Given the description of an element on the screen output the (x, y) to click on. 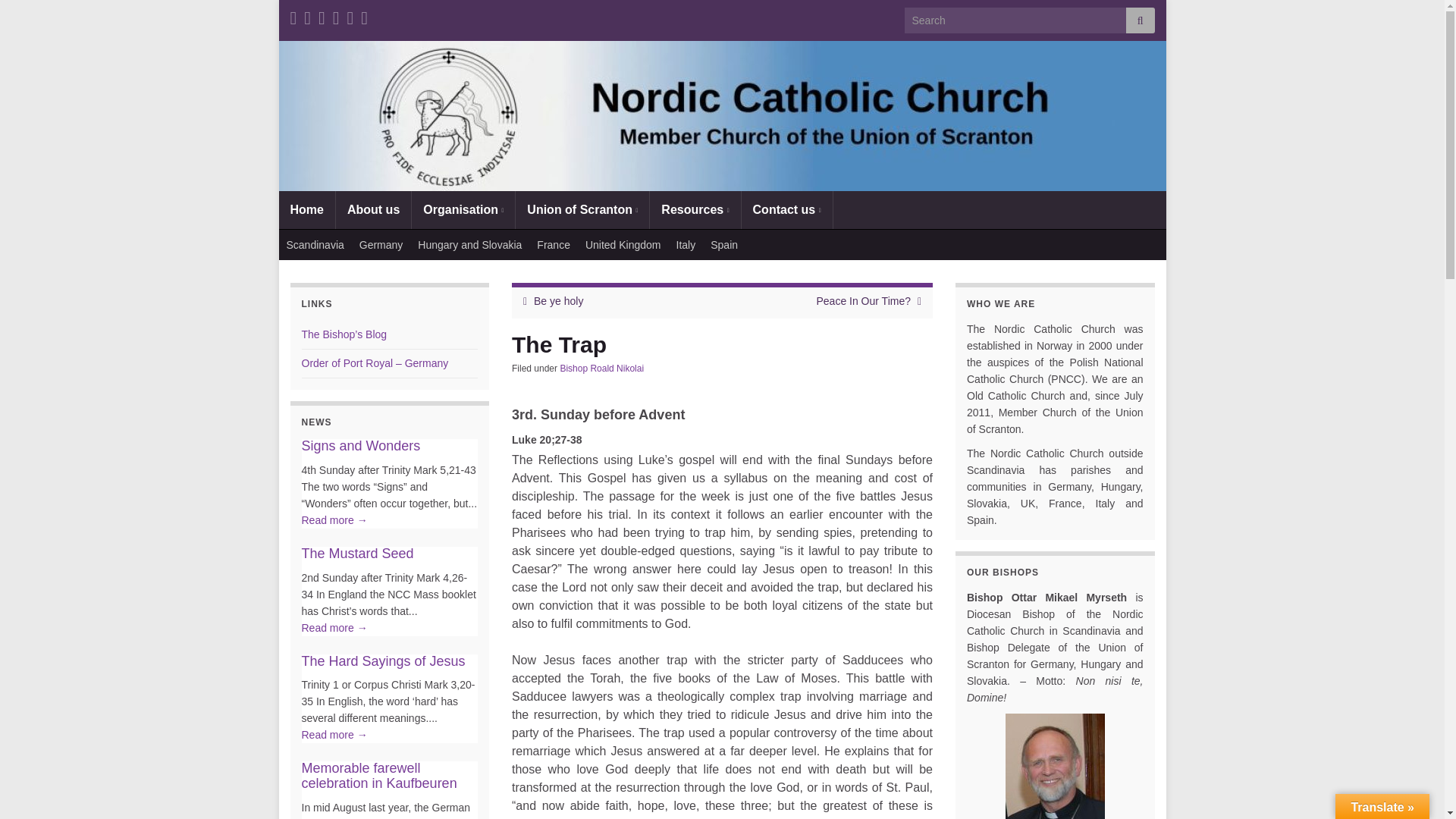
Scandinavia (315, 245)
Contact us (786, 209)
Organisation (463, 209)
United Kingdom (623, 245)
France (553, 245)
Germany (381, 245)
Union of Scranton (582, 209)
Hungary and Slovakia (469, 245)
Spain (724, 245)
About us (373, 209)
Home (306, 209)
Italy (685, 245)
Resources (694, 209)
